Given the description of an element on the screen output the (x, y) to click on. 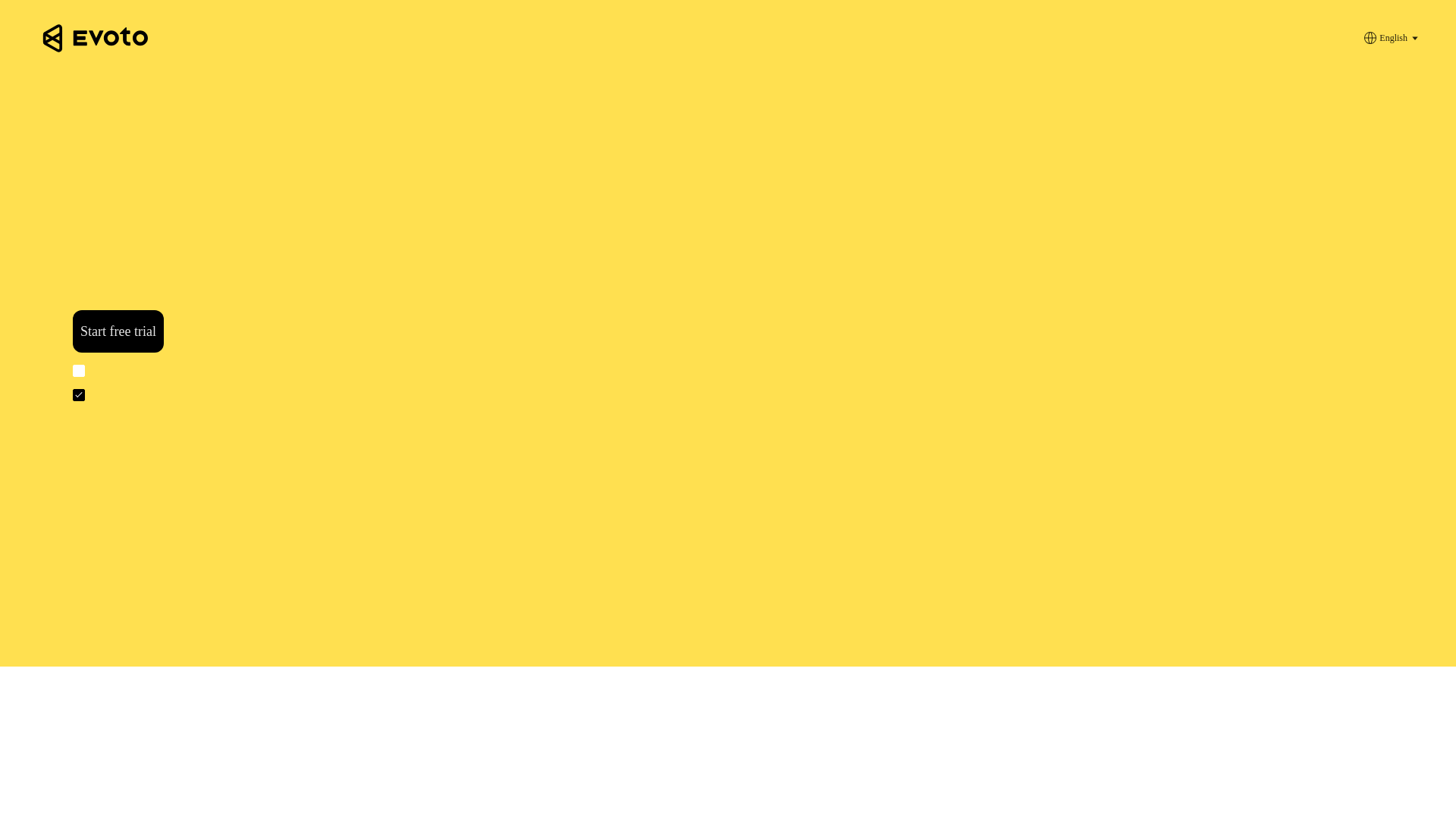
Start free trial (117, 331)
Start free trial (117, 331)
Start free trial (117, 331)
Start free trial (117, 330)
